Given the description of an element on the screen output the (x, y) to click on. 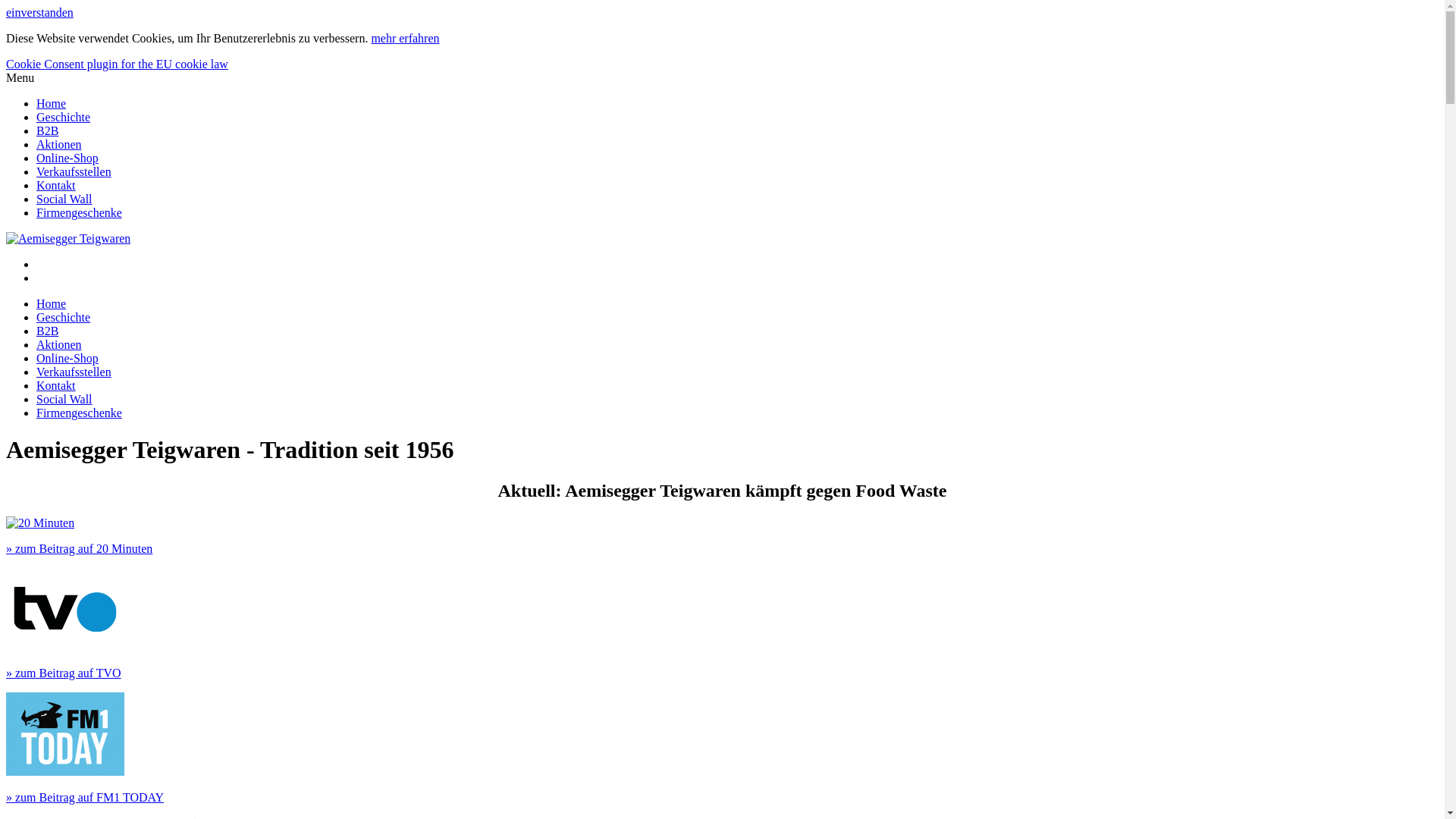
Online-Shop Element type: text (67, 357)
Social Wall Element type: text (64, 398)
B2B Element type: text (47, 330)
Firmengeschenke Element type: text (79, 212)
Kontakt Element type: text (55, 184)
Social Wall Element type: text (64, 198)
B2B Element type: text (47, 130)
Firmengeschenke Element type: text (79, 412)
einverstanden Element type: text (39, 12)
Home Element type: text (50, 103)
Geschichte Element type: text (63, 316)
Aktionen Element type: text (58, 344)
Cookie Consent plugin for the EU cookie law Element type: text (117, 63)
Kontakt Element type: text (55, 385)
Geschichte Element type: text (63, 116)
Verkaufsstellen Element type: text (73, 171)
Online-Shop Element type: text (67, 157)
Menu Element type: text (20, 77)
mehr erfahren Element type: text (404, 37)
Verkaufsstellen Element type: text (73, 371)
Aktionen Element type: text (58, 144)
Home Element type: text (50, 303)
